Given the description of an element on the screen output the (x, y) to click on. 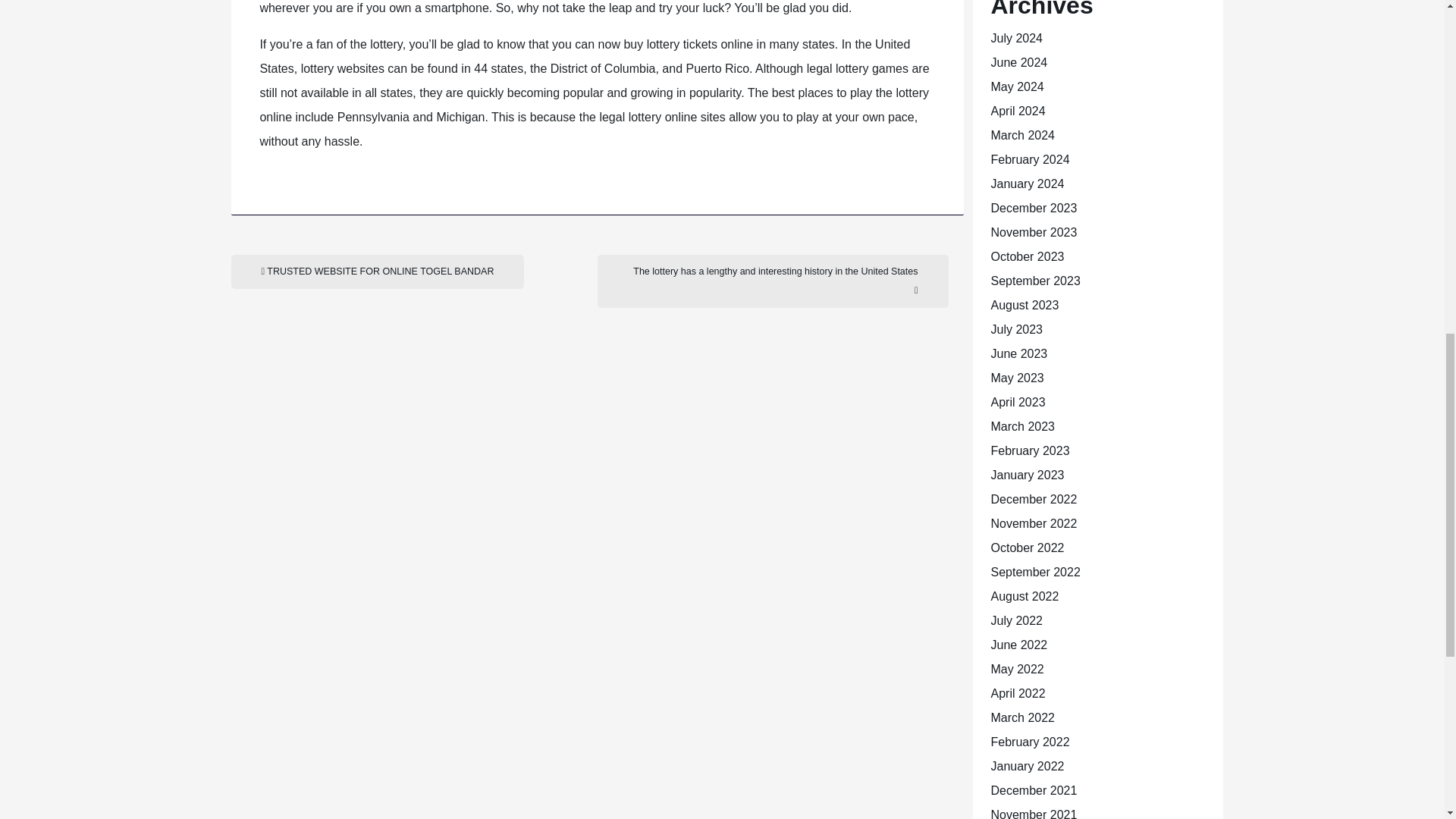
September 2022 (1035, 571)
February 2023 (1029, 450)
November 2022 (1033, 522)
January 2024 (1027, 183)
May 2023 (1016, 377)
January 2023 (1027, 474)
April 2023 (1017, 401)
July 2024 (1016, 38)
July 2022 (1016, 620)
TRUSTED WEBSITE FOR ONLINE TOGEL BANDAR (377, 271)
May 2024 (1016, 86)
December 2022 (1033, 499)
March 2023 (1022, 426)
June 2023 (1018, 353)
